Given the description of an element on the screen output the (x, y) to click on. 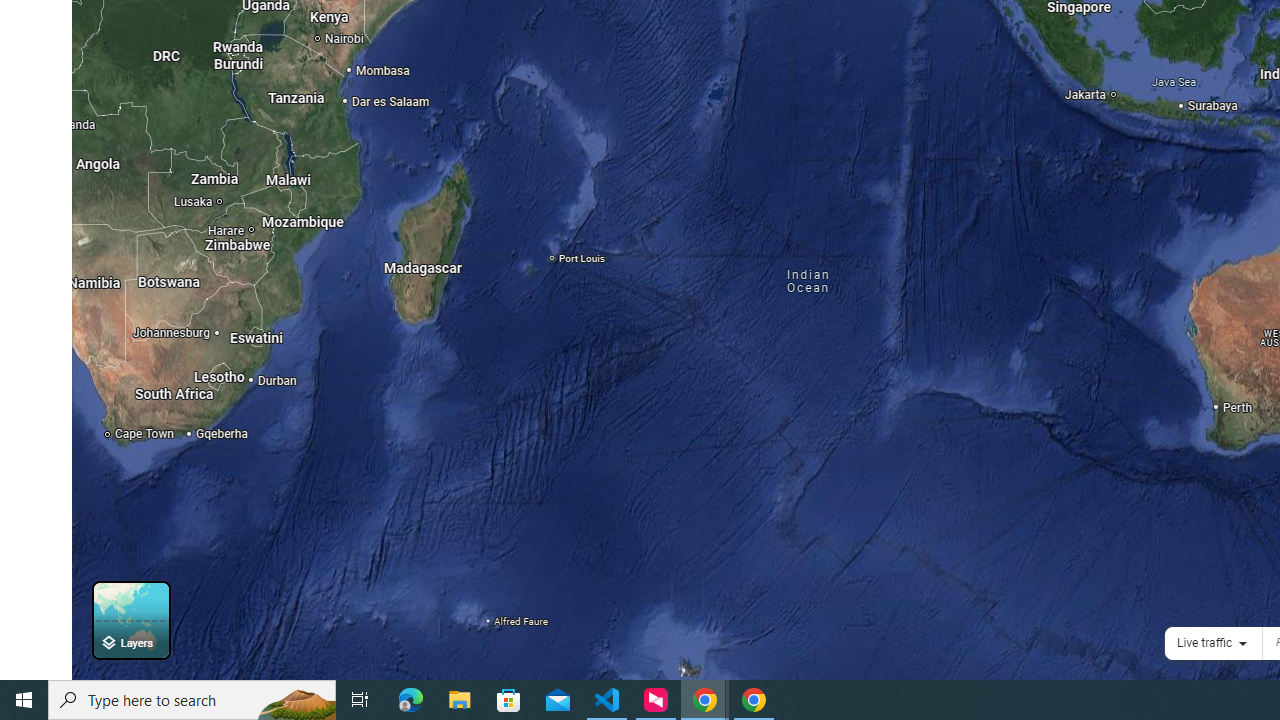
Layers (130, 620)
Live traffic (1204, 642)
